Given the description of an element on the screen output the (x, y) to click on. 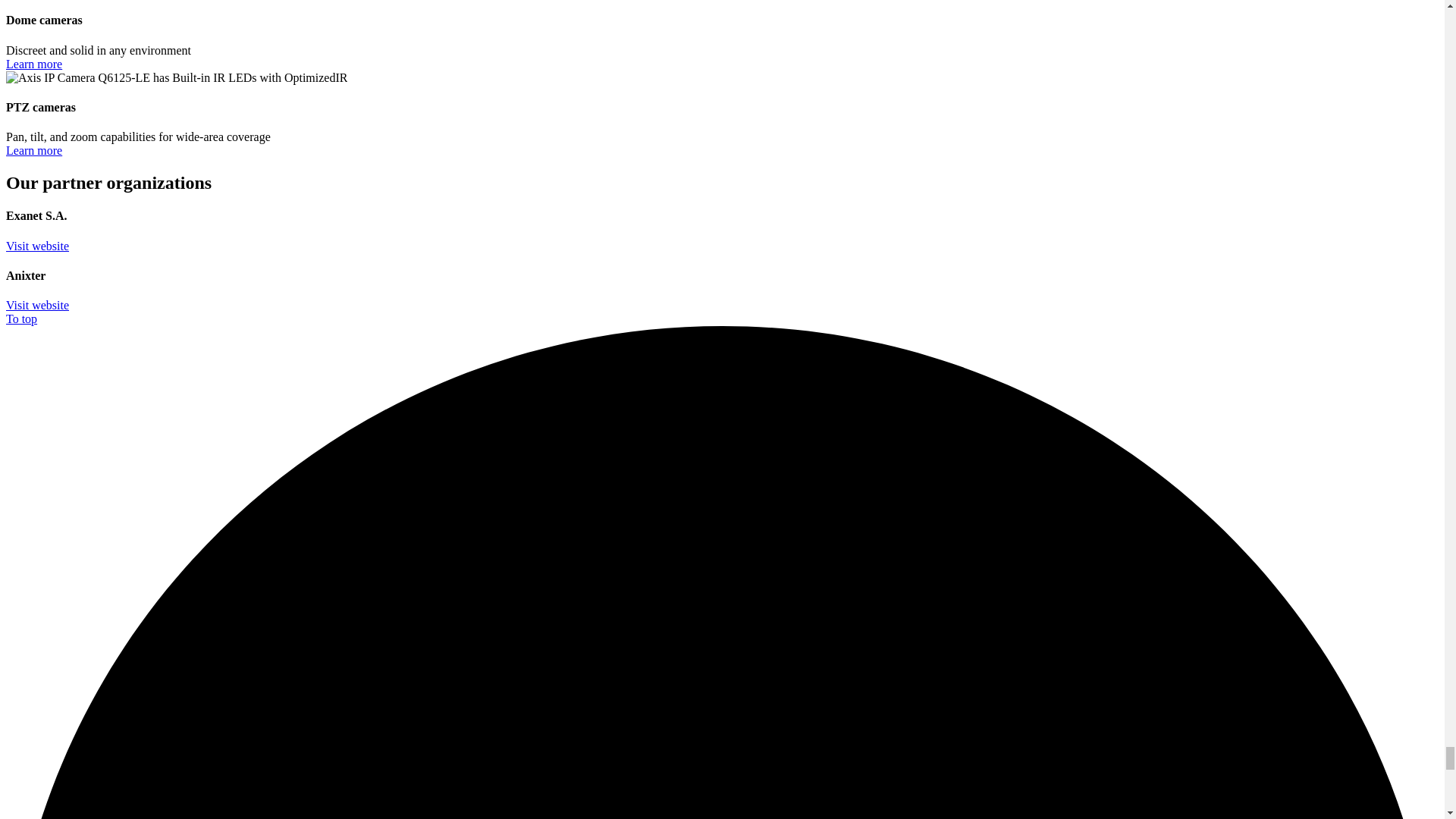
To top (21, 318)
